Given the description of an element on the screen output the (x, y) to click on. 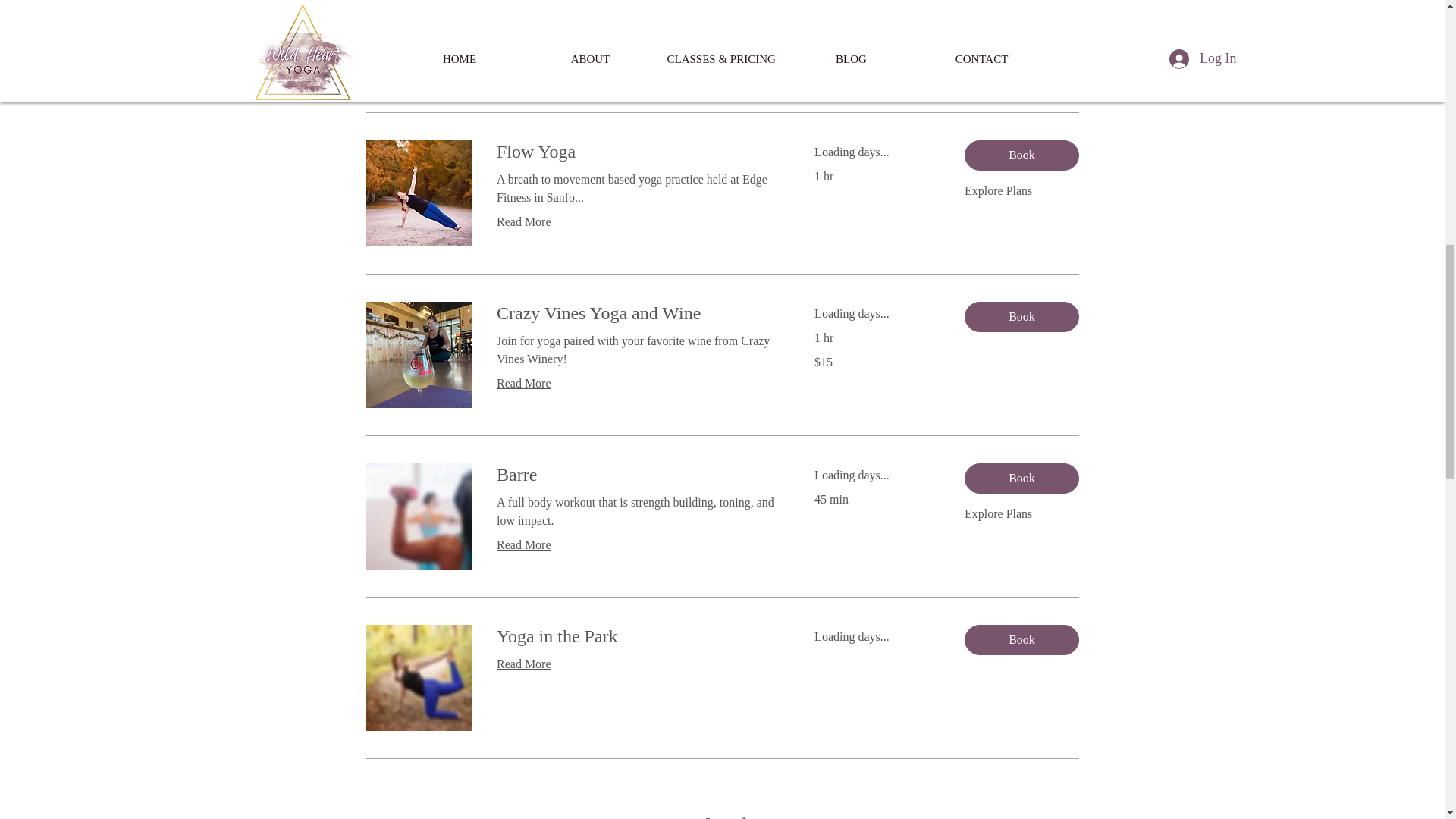
Book (1020, 155)
Book (1020, 4)
Crazy Vines Yoga and Wine (636, 313)
Read More (636, 545)
Chair Yoga (636, 1)
Explore Plans (997, 514)
Read More (636, 221)
Explore Plans (997, 190)
Explore Plans (997, 29)
Read More (636, 664)
Book (1020, 317)
Yoga in the Park (636, 636)
Book (1020, 639)
Read More (636, 42)
Book (1020, 478)
